Given the description of an element on the screen output the (x, y) to click on. 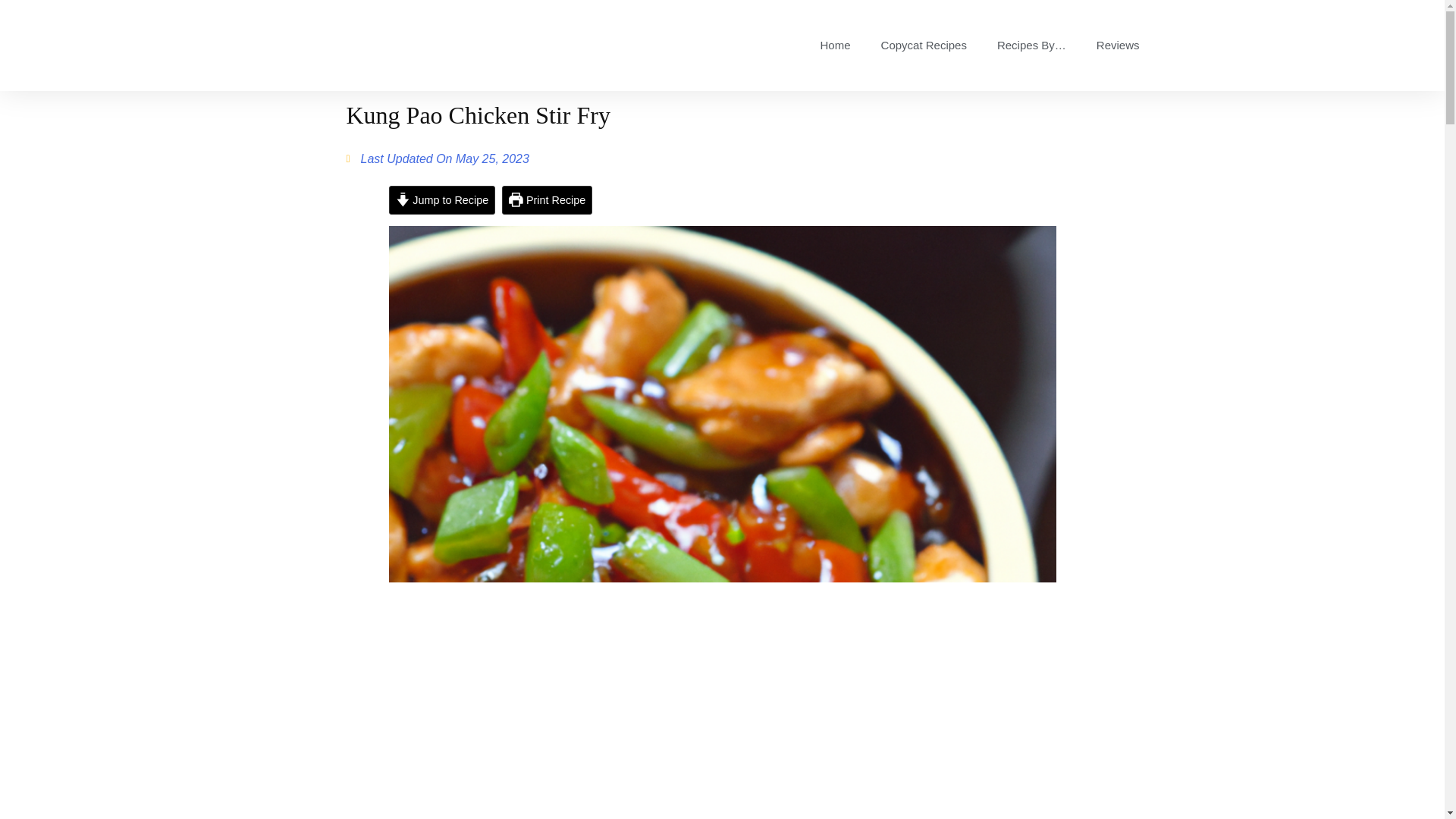
Jump to Recipe (441, 199)
Copycat Recipes (923, 45)
Last Updated On May 25, 2023 (437, 159)
Reviews (1117, 45)
Print Recipe (547, 199)
Home (835, 45)
